Given the description of an element on the screen output the (x, y) to click on. 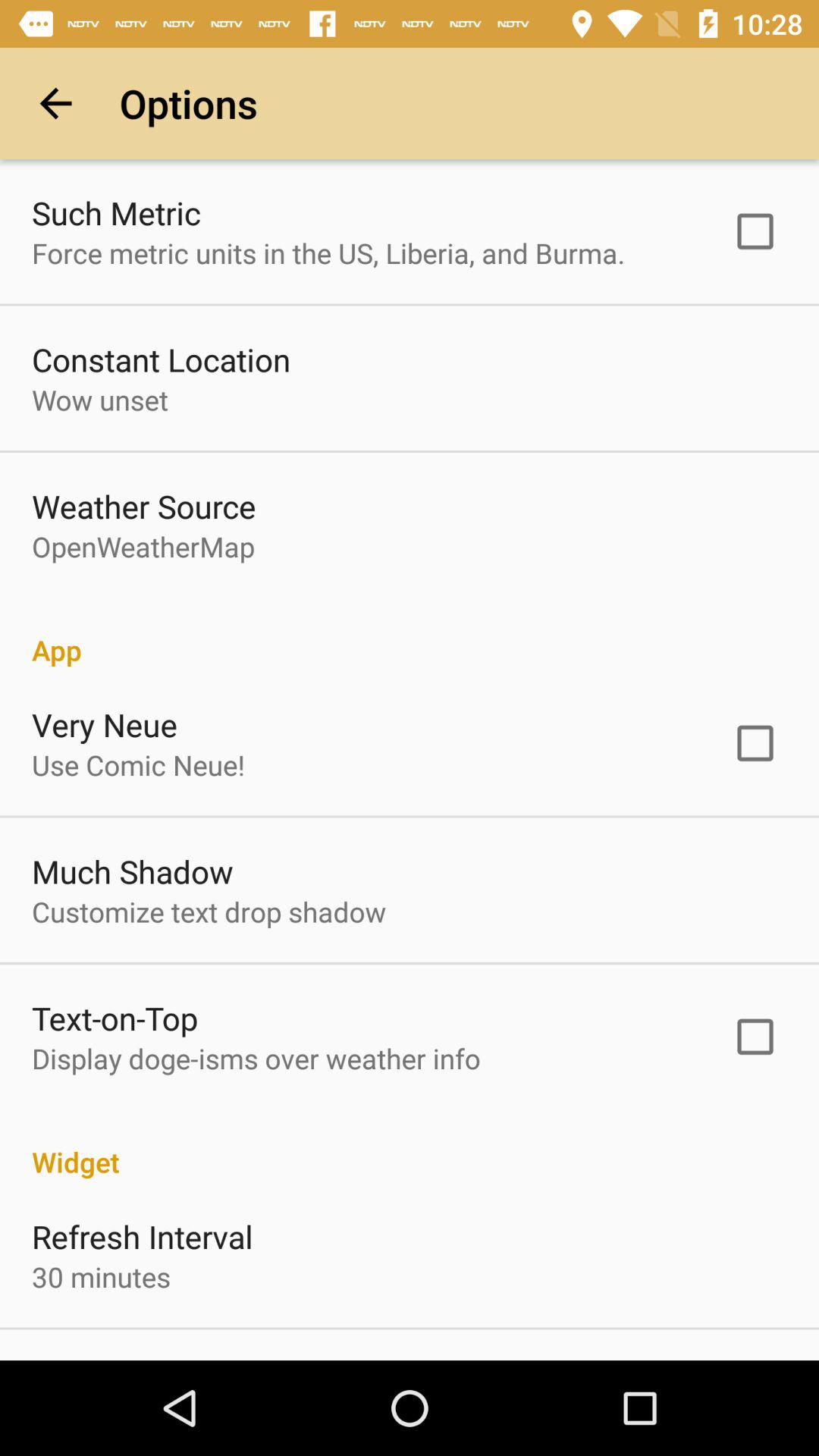
turn off the app below openweathermap (409, 633)
